Given the description of an element on the screen output the (x, y) to click on. 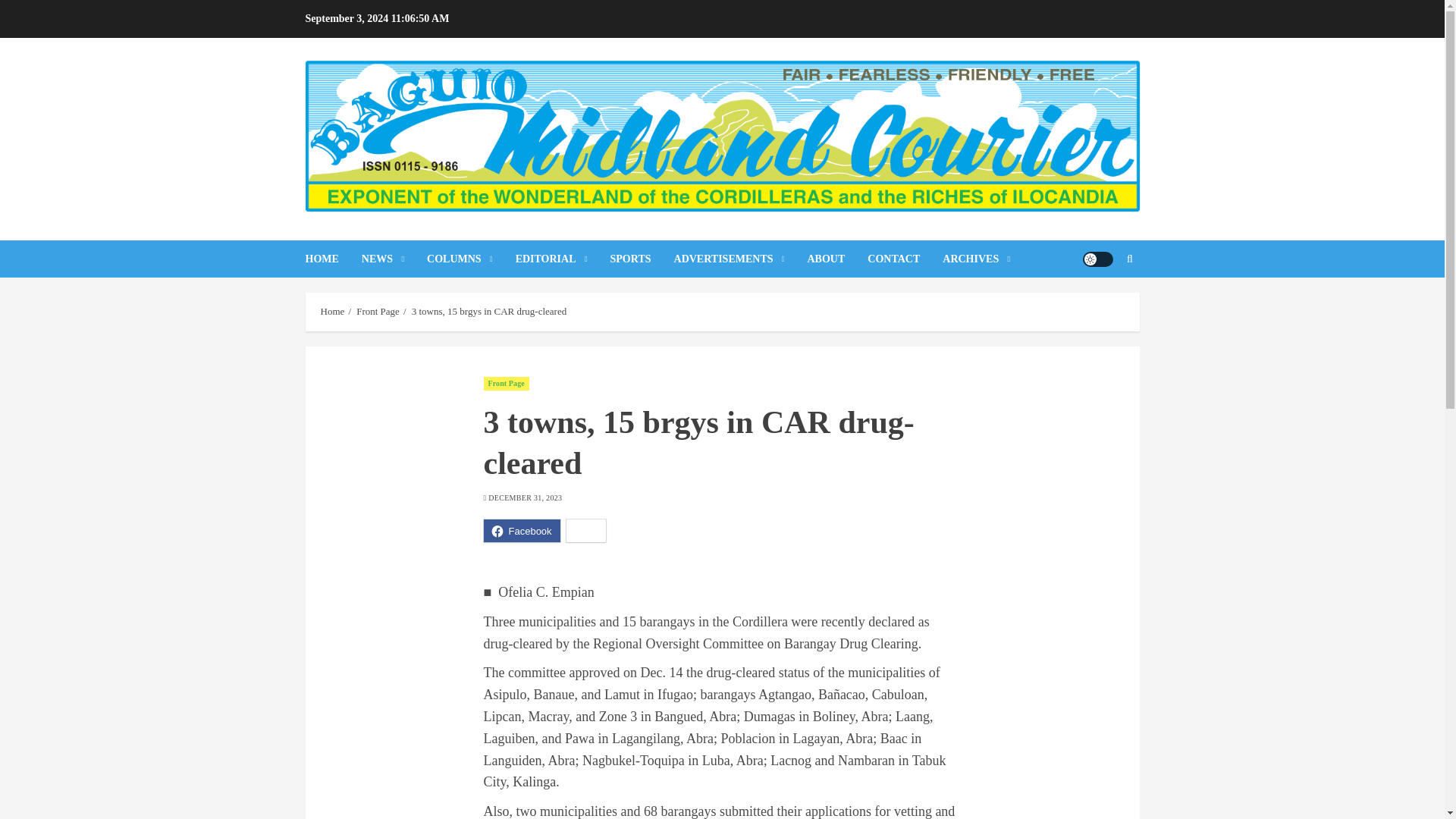
COLUMNS (470, 258)
NEWS (393, 258)
Click to share on Facebook (521, 530)
EDITORIAL (562, 258)
HOME (332, 258)
Click to share on X (586, 530)
